Given the description of an element on the screen output the (x, y) to click on. 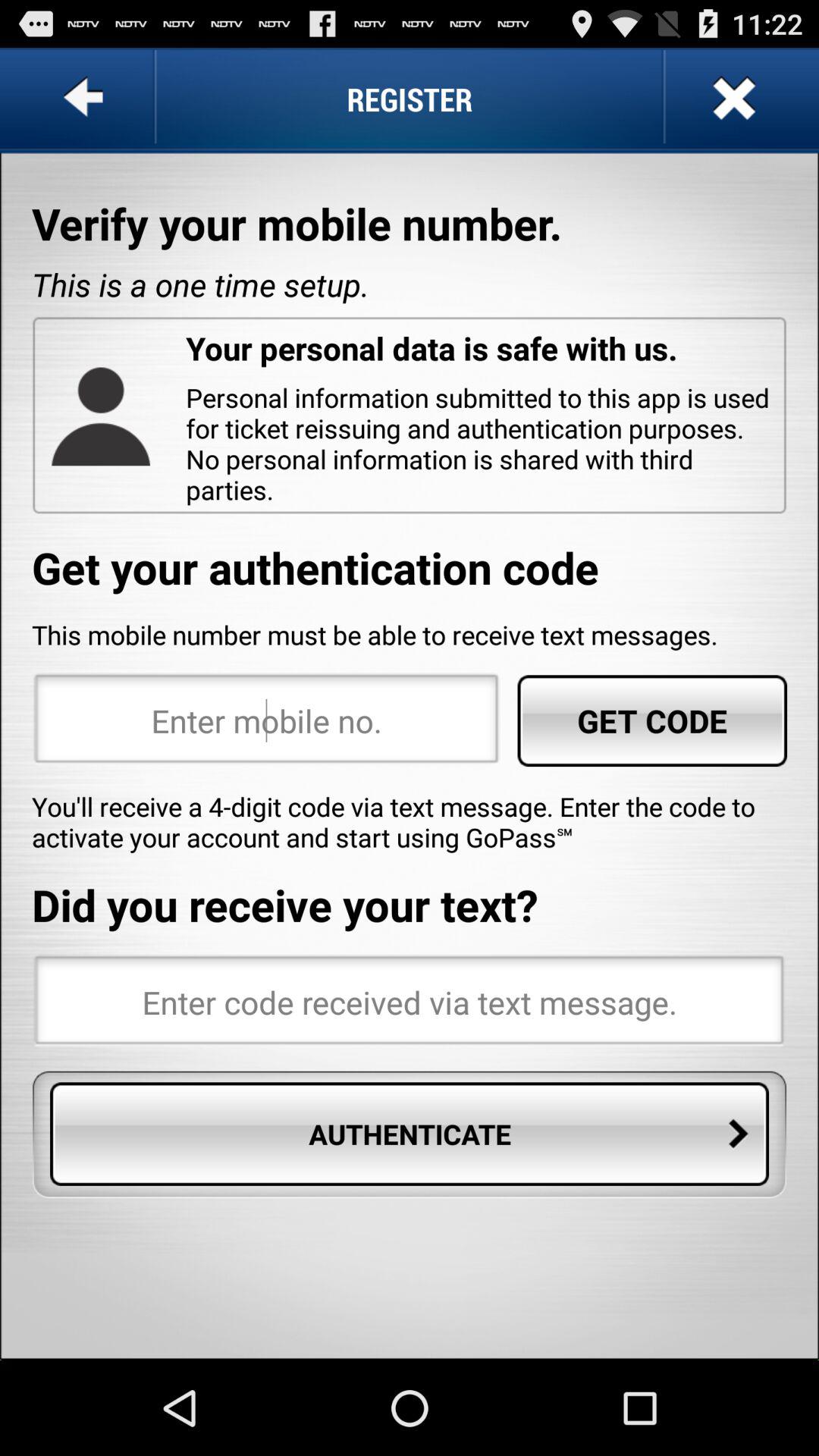
x (732, 99)
